Given the description of an element on the screen output the (x, y) to click on. 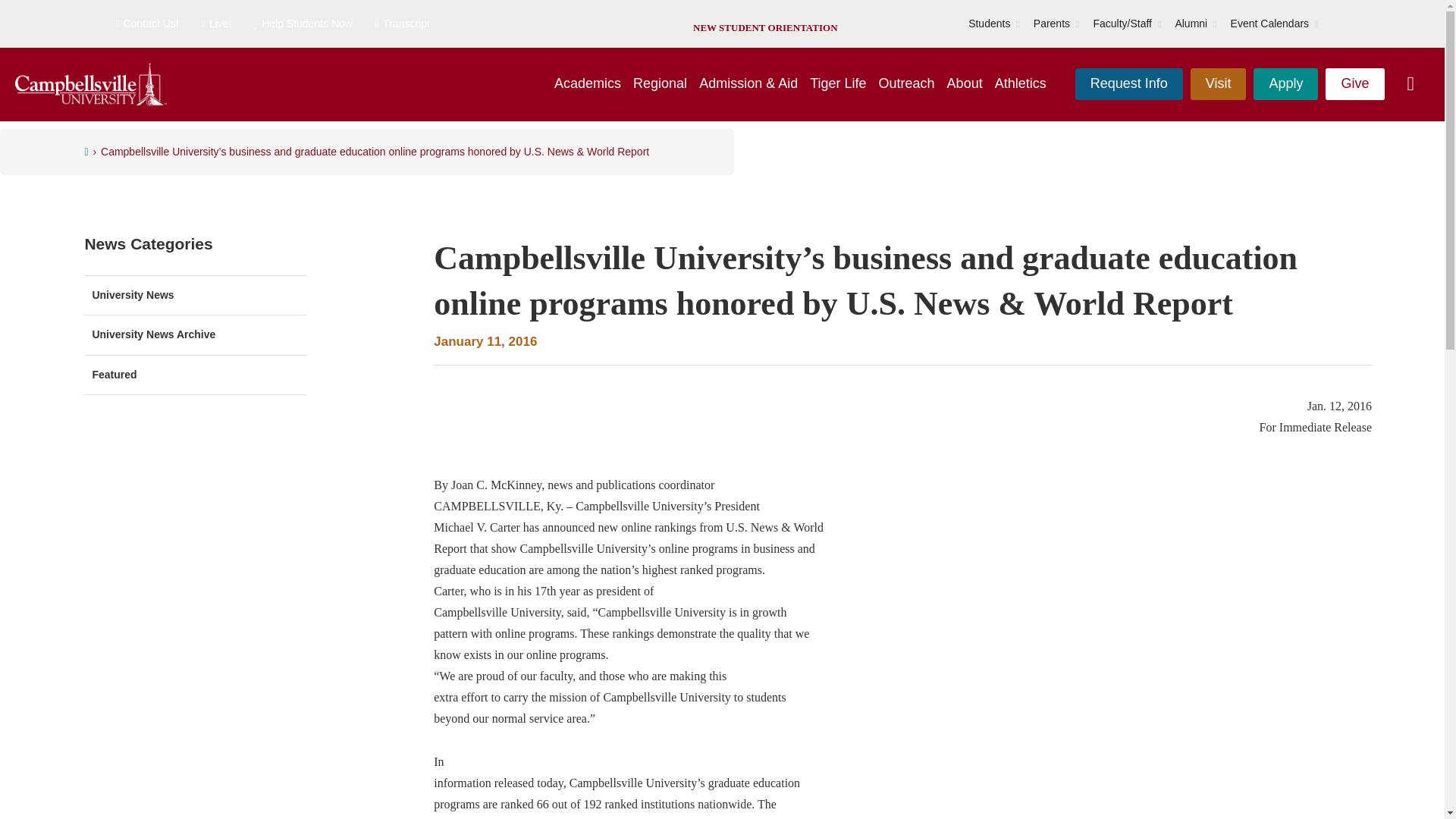
Live! (216, 24)
Contact Us! (146, 24)
Parents (1051, 24)
Campbellsville University Logo (90, 84)
Help Students Now (302, 24)
NEW STUDENT ORIENTATION (765, 27)
Students (989, 24)
Transcript (402, 24)
